Given the description of an element on the screen output the (x, y) to click on. 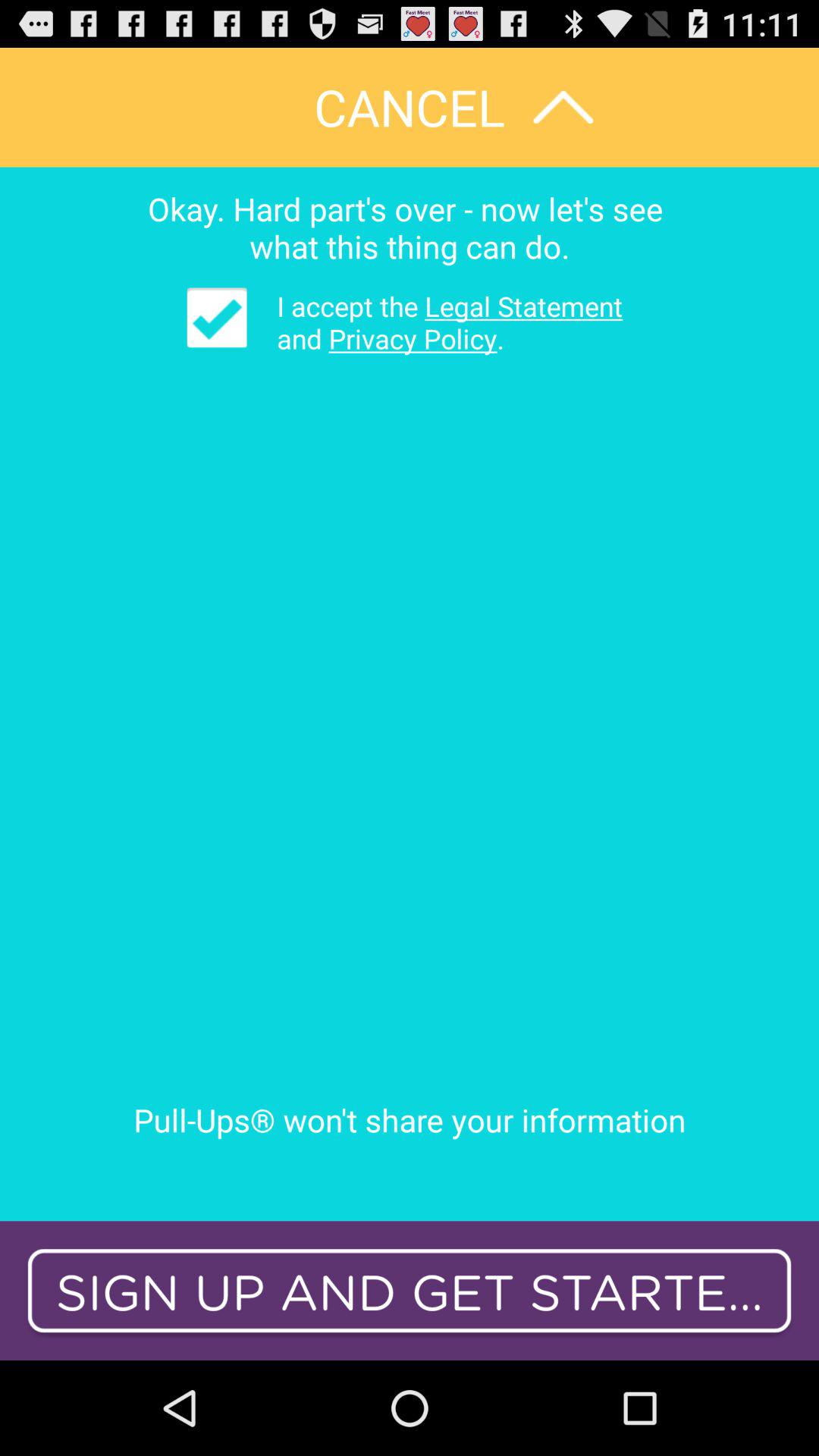
tap sign up and item (409, 1290)
